Given the description of an element on the screen output the (x, y) to click on. 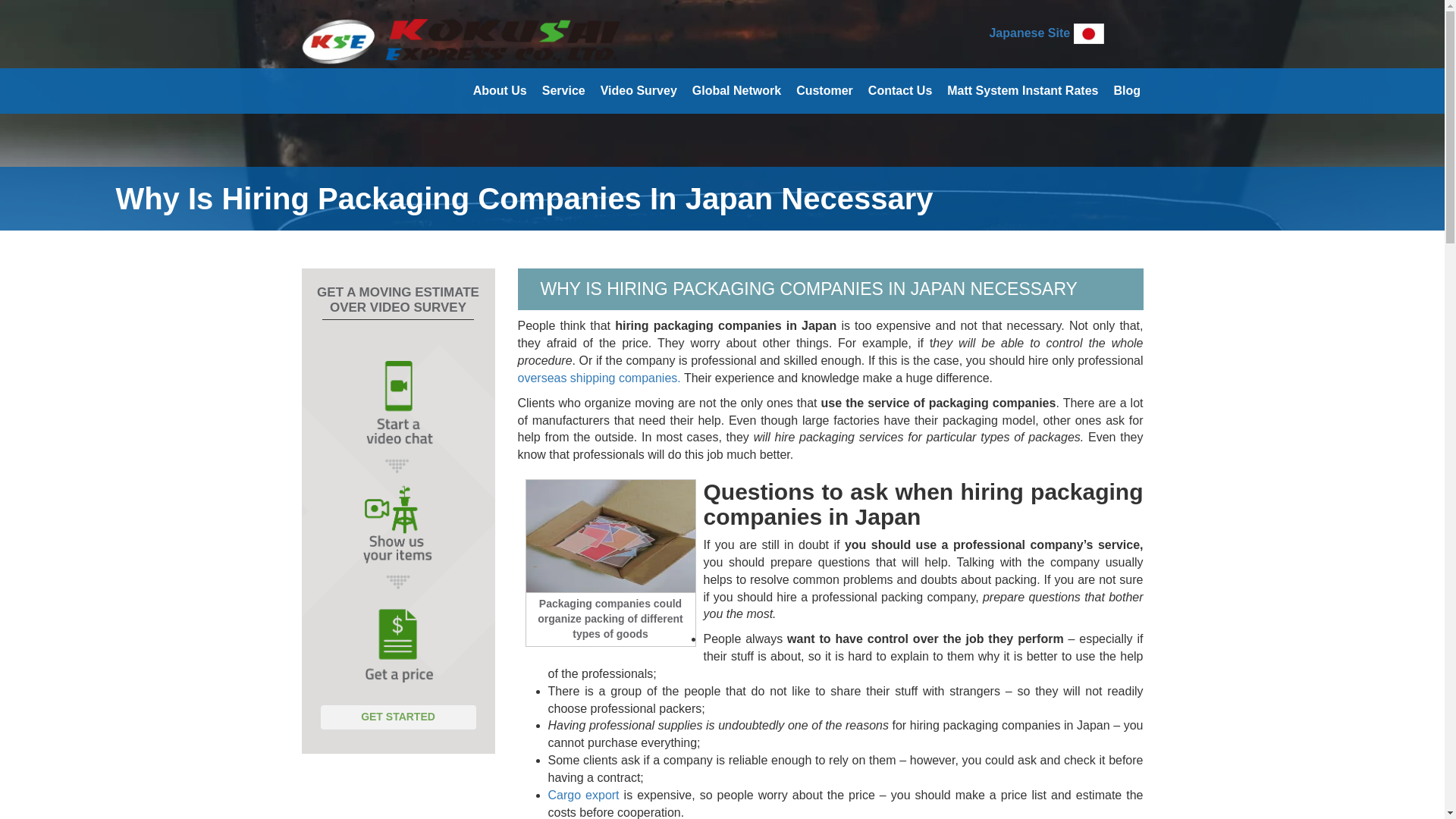
Service (563, 90)
Matt System Instant Rates (1022, 90)
Blog (1126, 90)
overseas shipping companies. (597, 377)
Service (563, 90)
Global Network (736, 90)
About Us (499, 90)
Cargo export (582, 794)
About Us (499, 90)
Video Survey (638, 90)
Customer (824, 90)
Contact Us (900, 90)
Japanese Site (1029, 32)
